Given the description of an element on the screen output the (x, y) to click on. 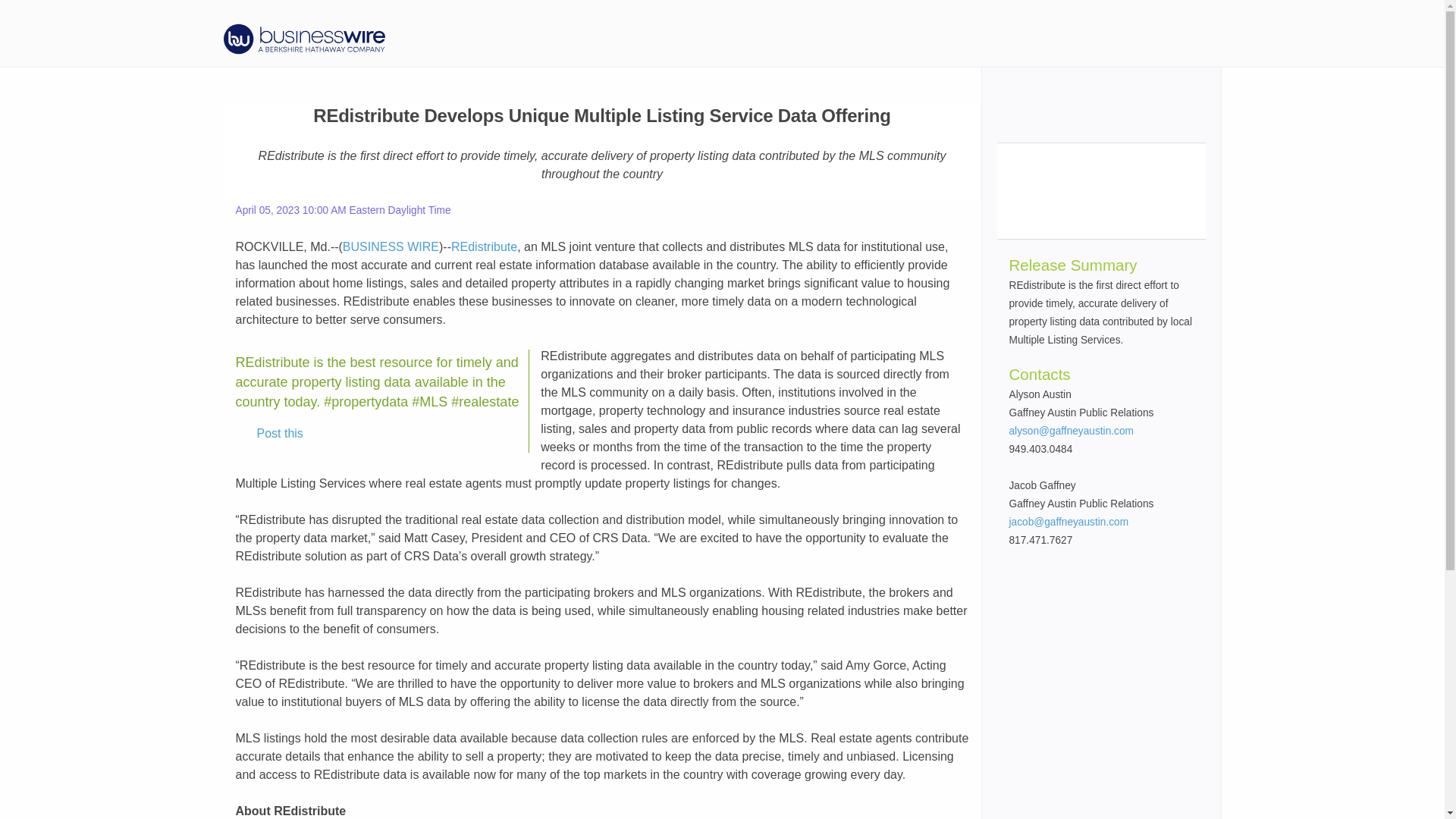
REdistribute (483, 246)
BUSINESS WIRE (390, 246)
Post this (269, 433)
